Given the description of an element on the screen output the (x, y) to click on. 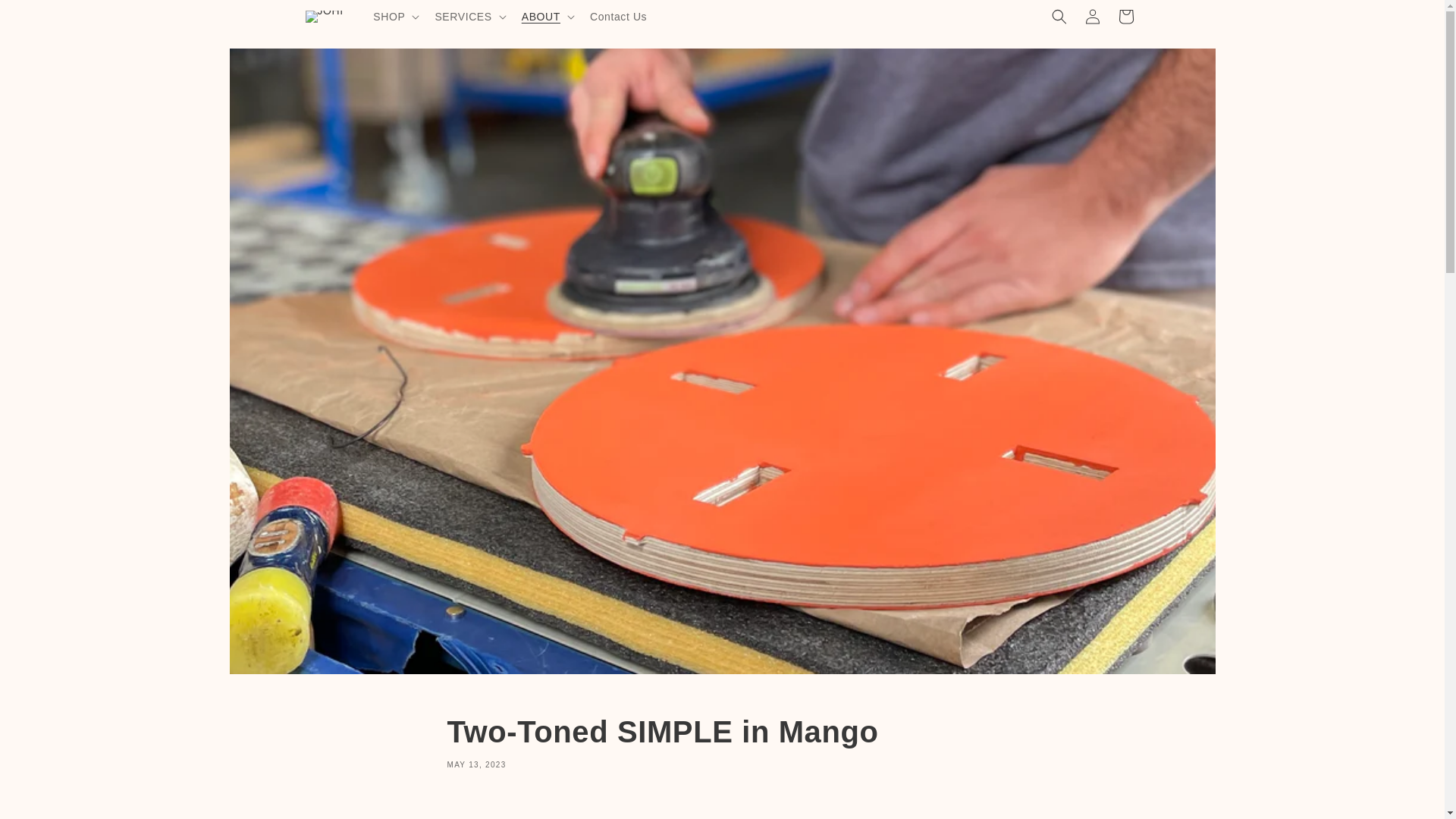
Skip to content (45, 17)
Share (721, 740)
